Given the description of an element on the screen output the (x, y) to click on. 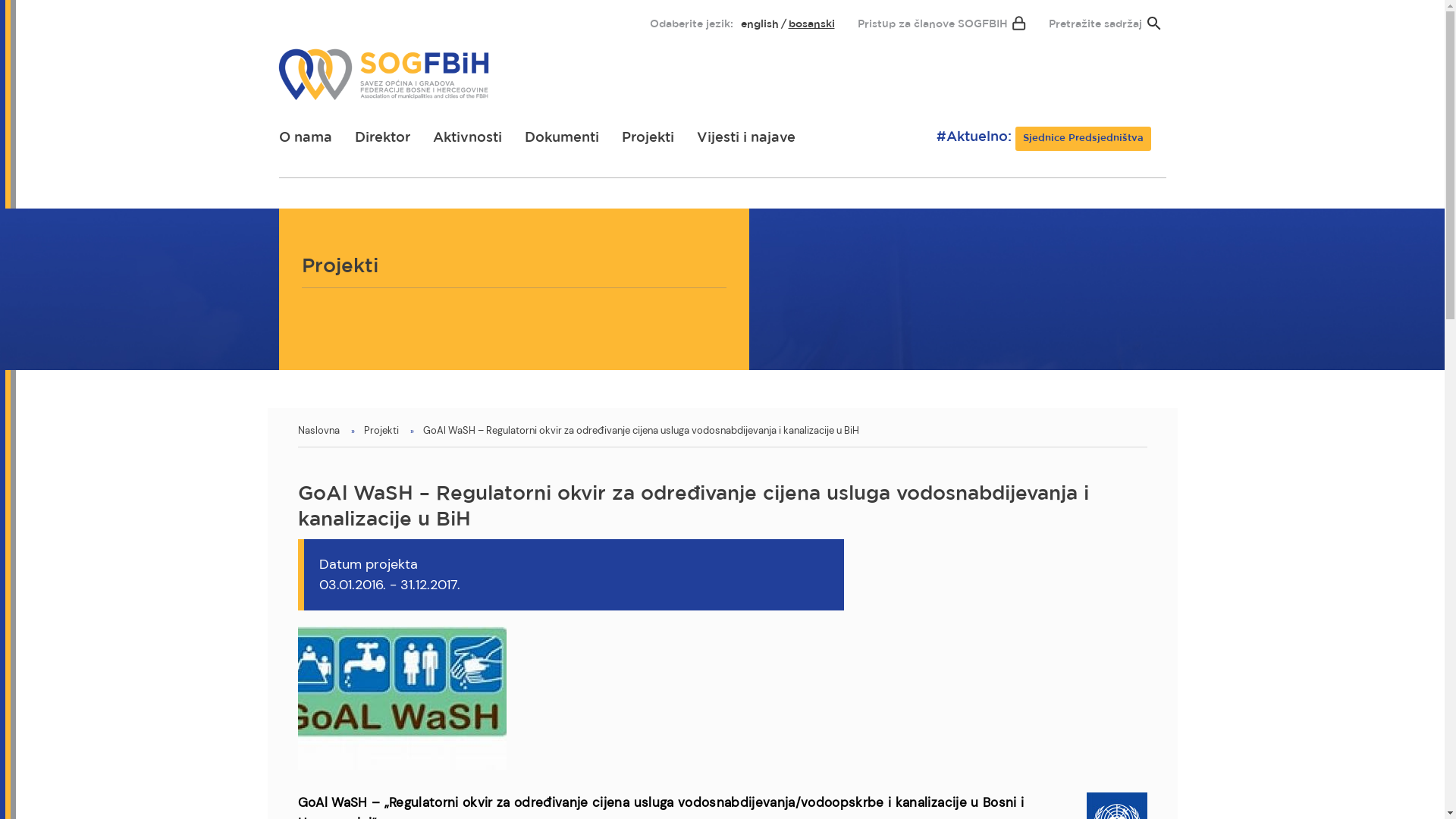
O nama Element type: text (305, 137)
Vijesti i najave Element type: text (745, 137)
Naslovna Element type: text (317, 429)
Projekti Element type: text (381, 429)
bosanski Element type: text (811, 23)
Dokumenti Element type: text (561, 137)
Projekti Element type: text (647, 137)
Aktivnosti Element type: text (466, 137)
Direktor Element type: text (382, 137)
english Element type: text (759, 23)
